Given the description of an element on the screen output the (x, y) to click on. 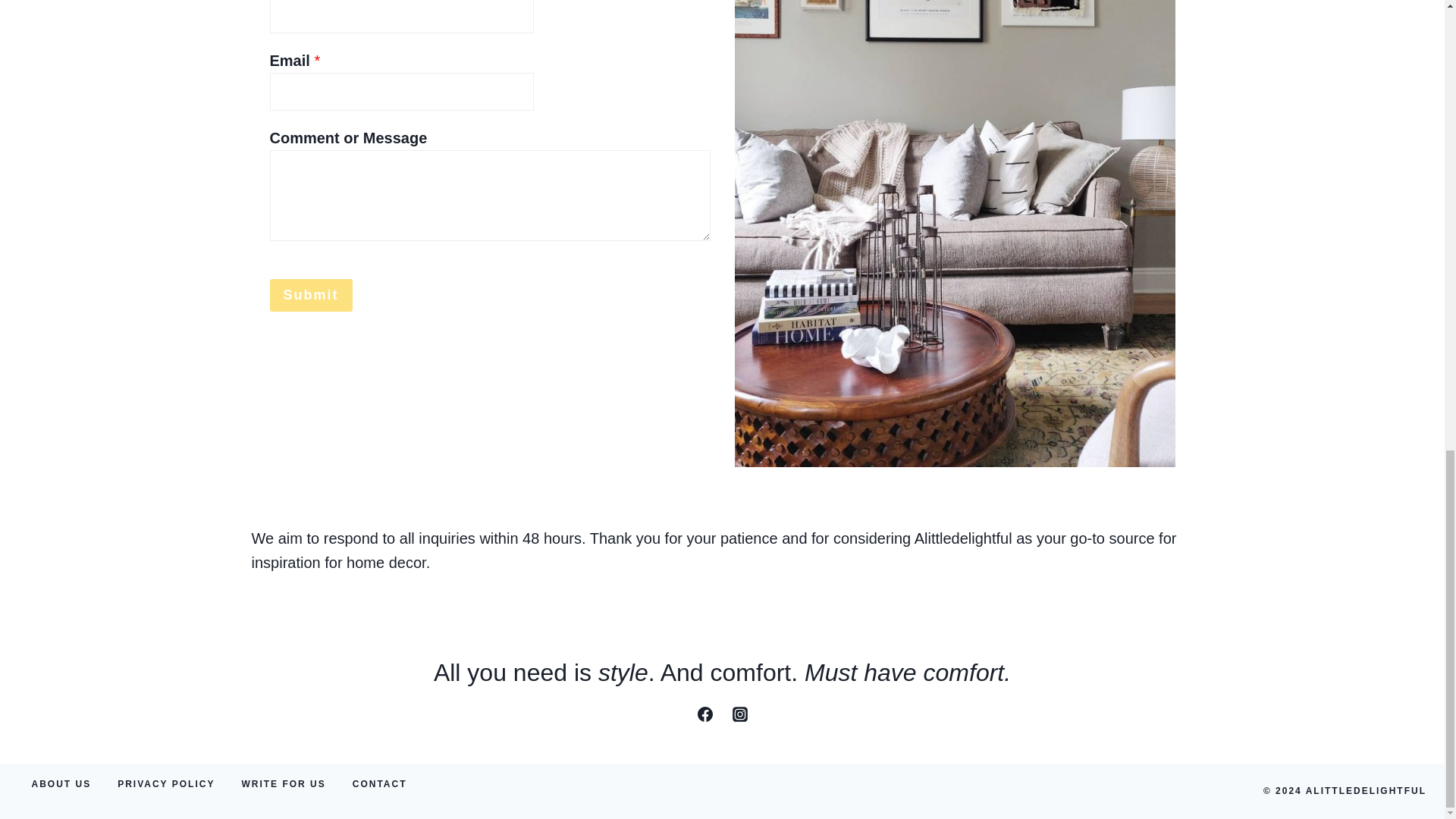
Submit (310, 295)
PRIVACY POLICY (166, 784)
ABOUT US (60, 784)
CONTACT (379, 784)
WRITE FOR US (283, 784)
